Given the description of an element on the screen output the (x, y) to click on. 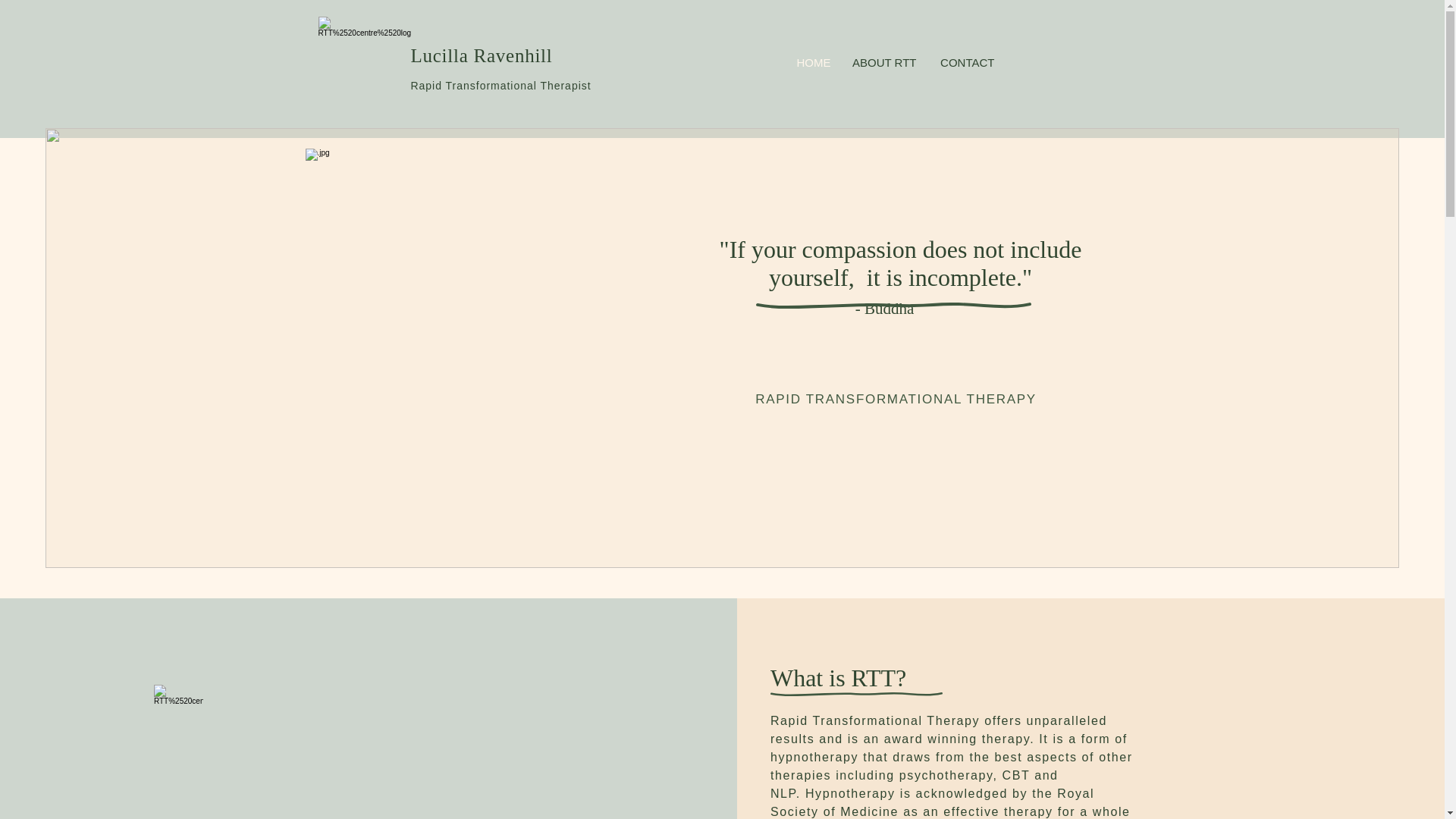
CONTACT (967, 62)
Lucilla Ravenhill (481, 55)
ABOUT RTT (883, 62)
HOME (813, 62)
